Given the description of an element on the screen output the (x, y) to click on. 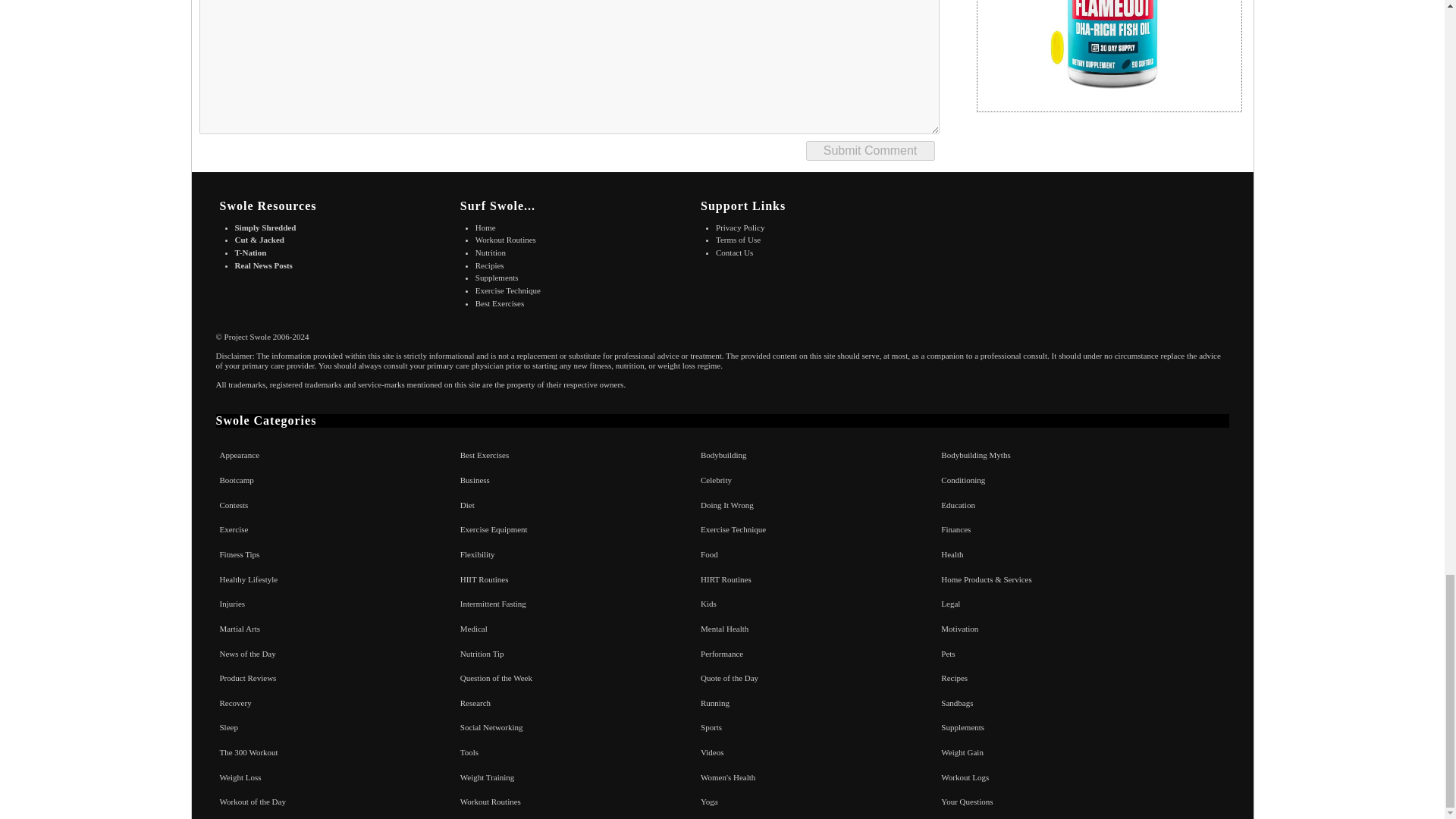
Submit Comment (869, 150)
